Given the description of an element on the screen output the (x, y) to click on. 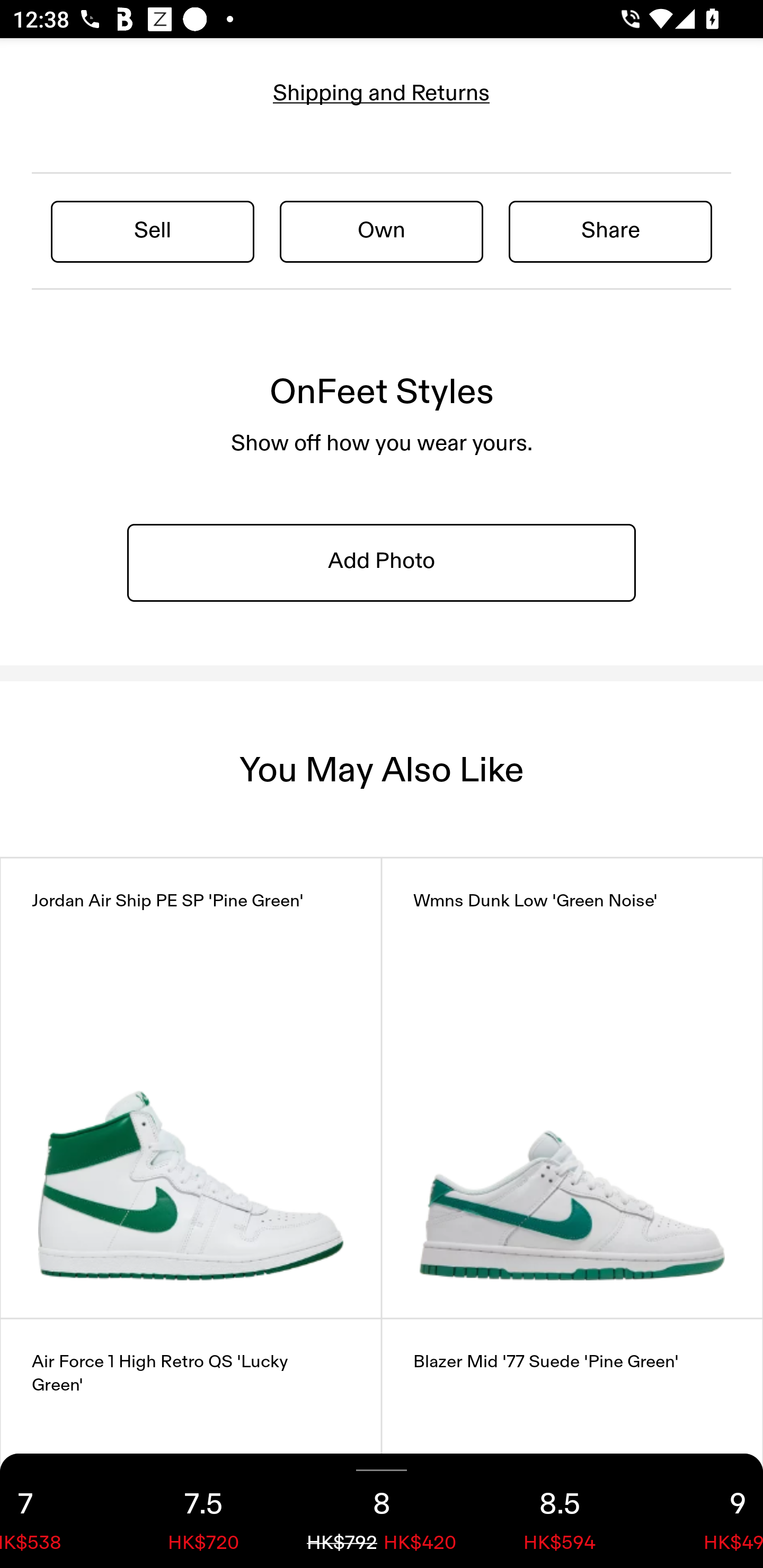
Shipping and Returns (381, 93)
Sell (152, 231)
Own (381, 231)
Share (609, 231)
Add Photo (381, 562)
Jordan Air Ship PE SP 'Pine Green' (190, 1087)
Wmns Dunk Low 'Green Noise' (572, 1087)
Air Force 1 High Retro QS 'Lucky Green' (190, 1443)
Blazer Mid '77 Suede 'Pine Green' (572, 1443)
7 HK$538 (57, 1510)
7.5 HK$720 (203, 1510)
8 HK$792 HK$420 (381, 1510)
8.5 HK$594 (559, 1510)
9 HK$491 (705, 1510)
